Given the description of an element on the screen output the (x, y) to click on. 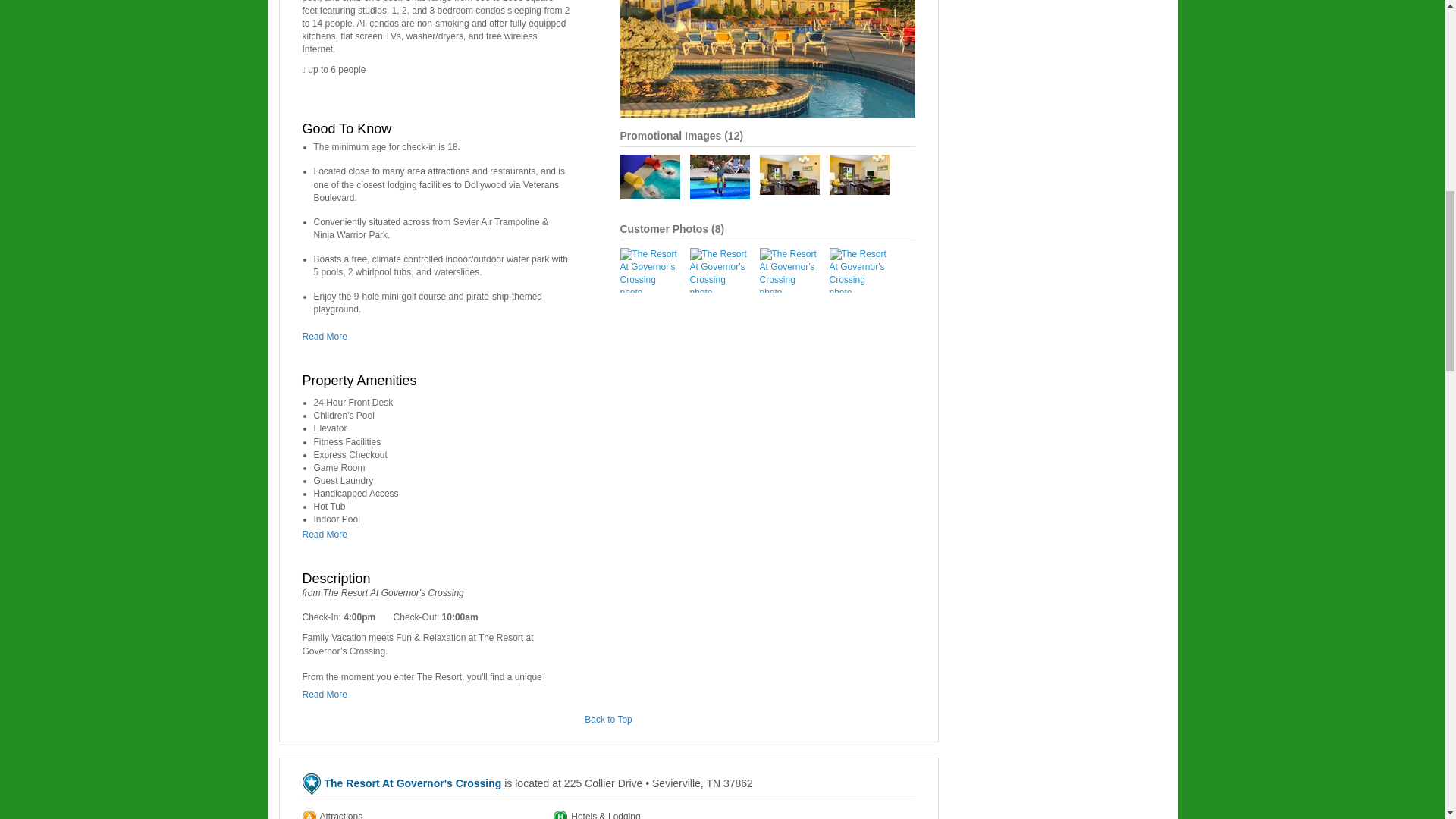
12 (733, 135)
Read More (328, 534)
Read More (328, 694)
Read More (328, 336)
